Given the description of an element on the screen output the (x, y) to click on. 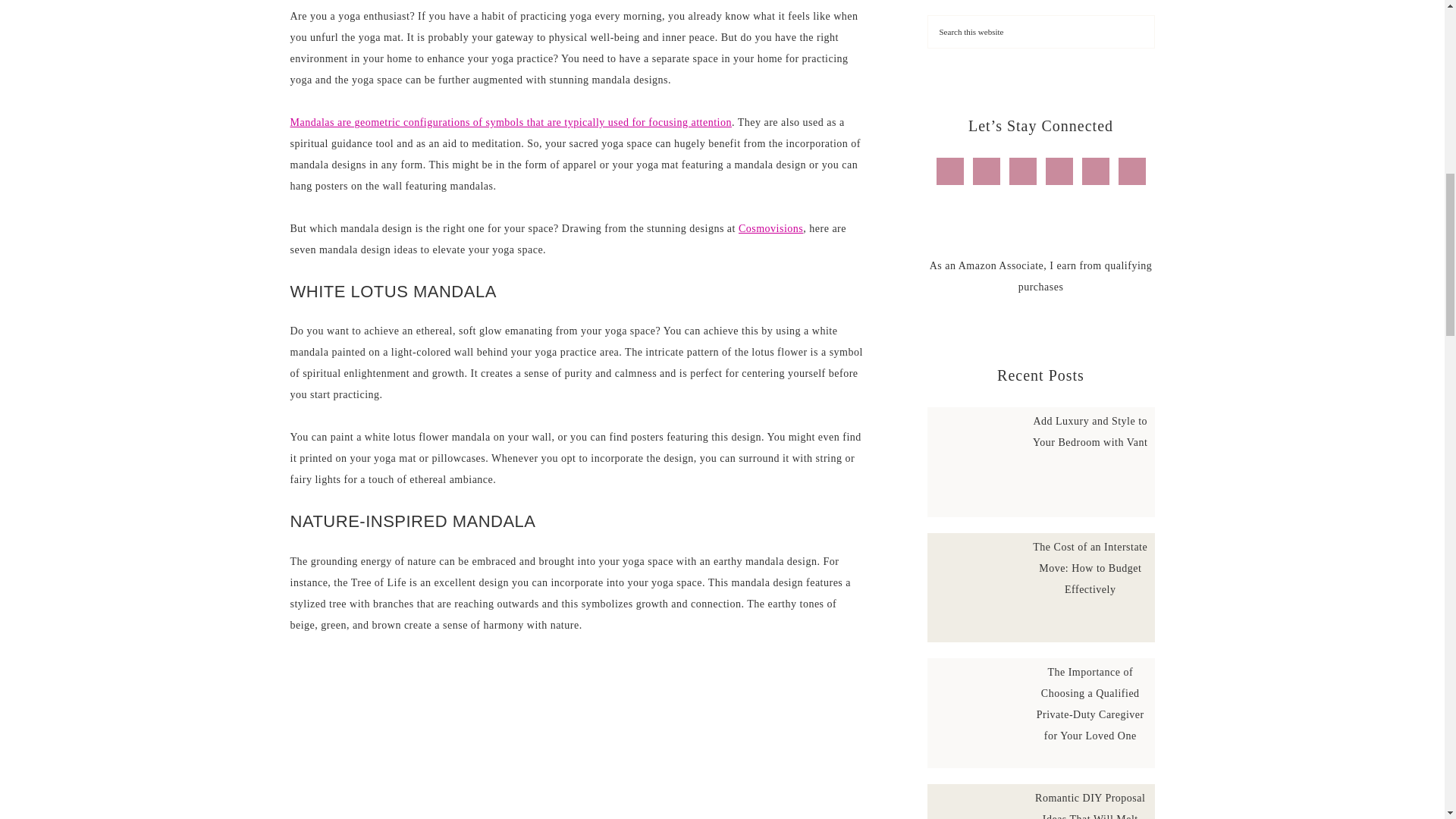
Cosmovisions (770, 228)
